Given the description of an element on the screen output the (x, y) to click on. 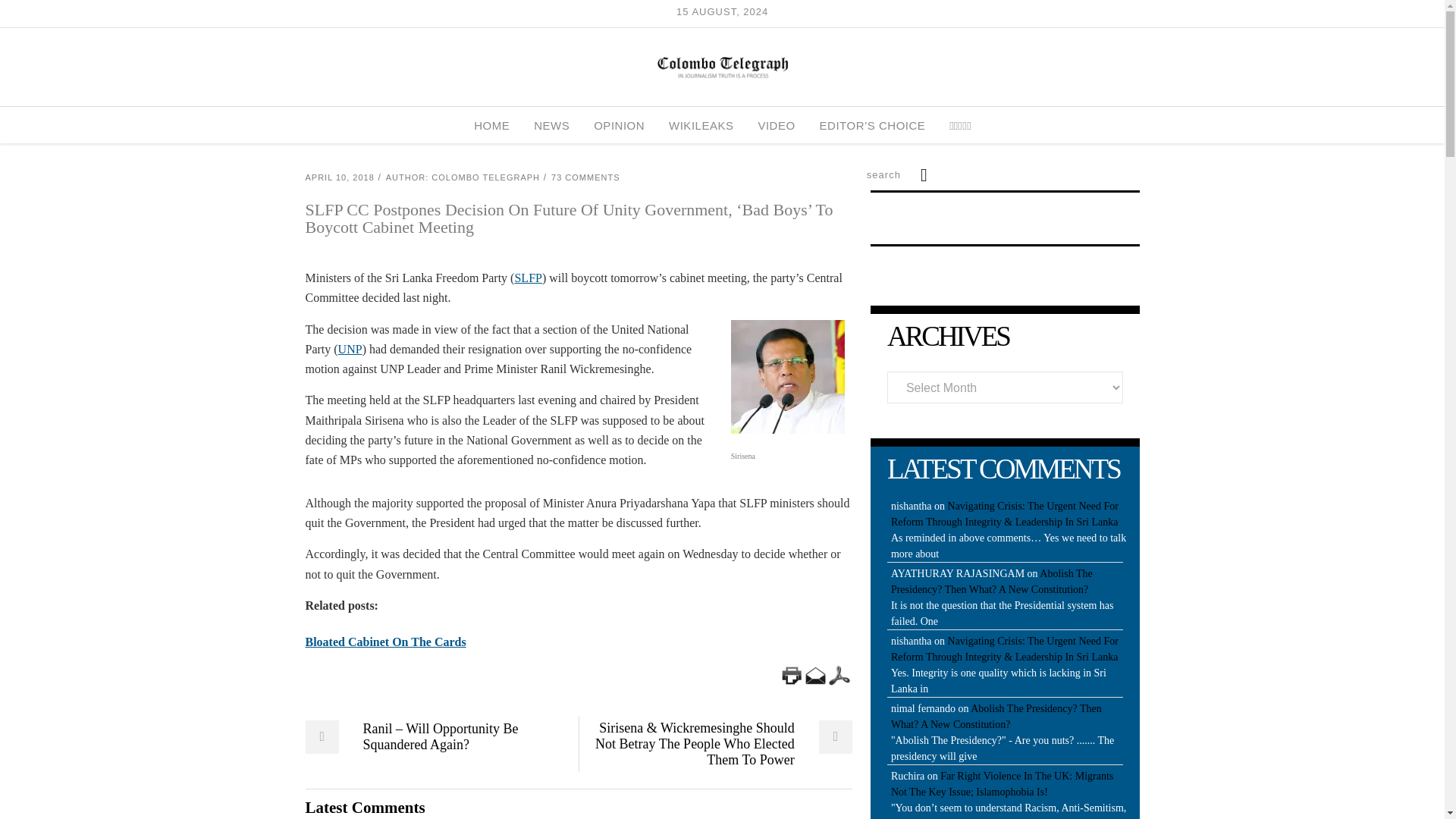
UNP (349, 349)
HOME (491, 125)
APRIL 10, 2018 (339, 176)
73 COMMENTS (585, 176)
SLFP (527, 277)
OPINION (618, 125)
VIDEO (775, 125)
WIKILEAKS (700, 125)
AUTHOR: COLOMBO TELEGRAPH (462, 176)
NEWS (550, 125)
